Given the description of an element on the screen output the (x, y) to click on. 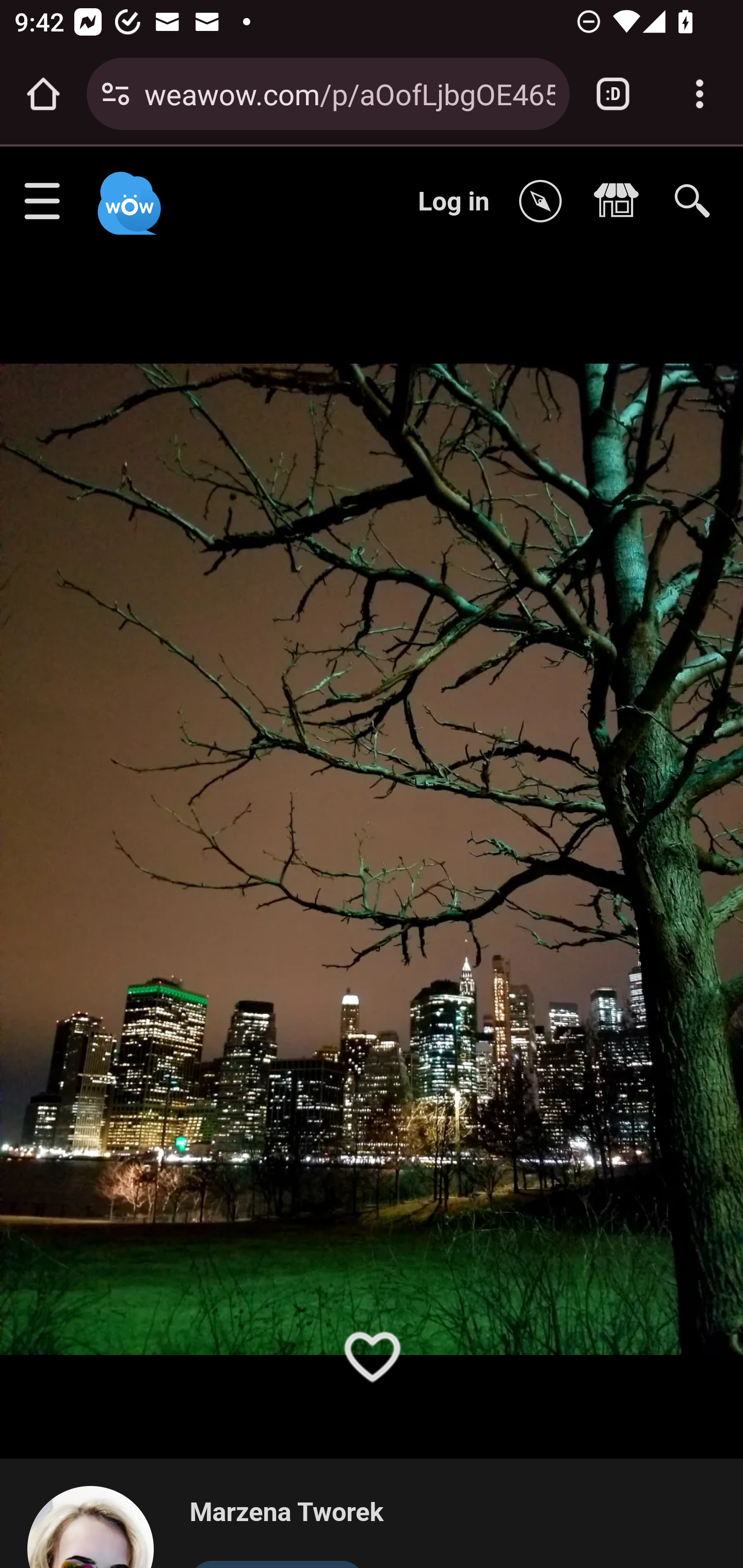
Open the home page (43, 93)
Connection is secure (115, 93)
Switch or close tabs (612, 93)
Customize and control Google Chrome (699, 93)
weawow.com/p/aOofLjbgOE46530 (349, 92)
Weawow (127, 194)
 (545, 201)
 (621, 201)
Log in (453, 201)
Marzena Tworek (285, 1513)
